Given the description of an element on the screen output the (x, y) to click on. 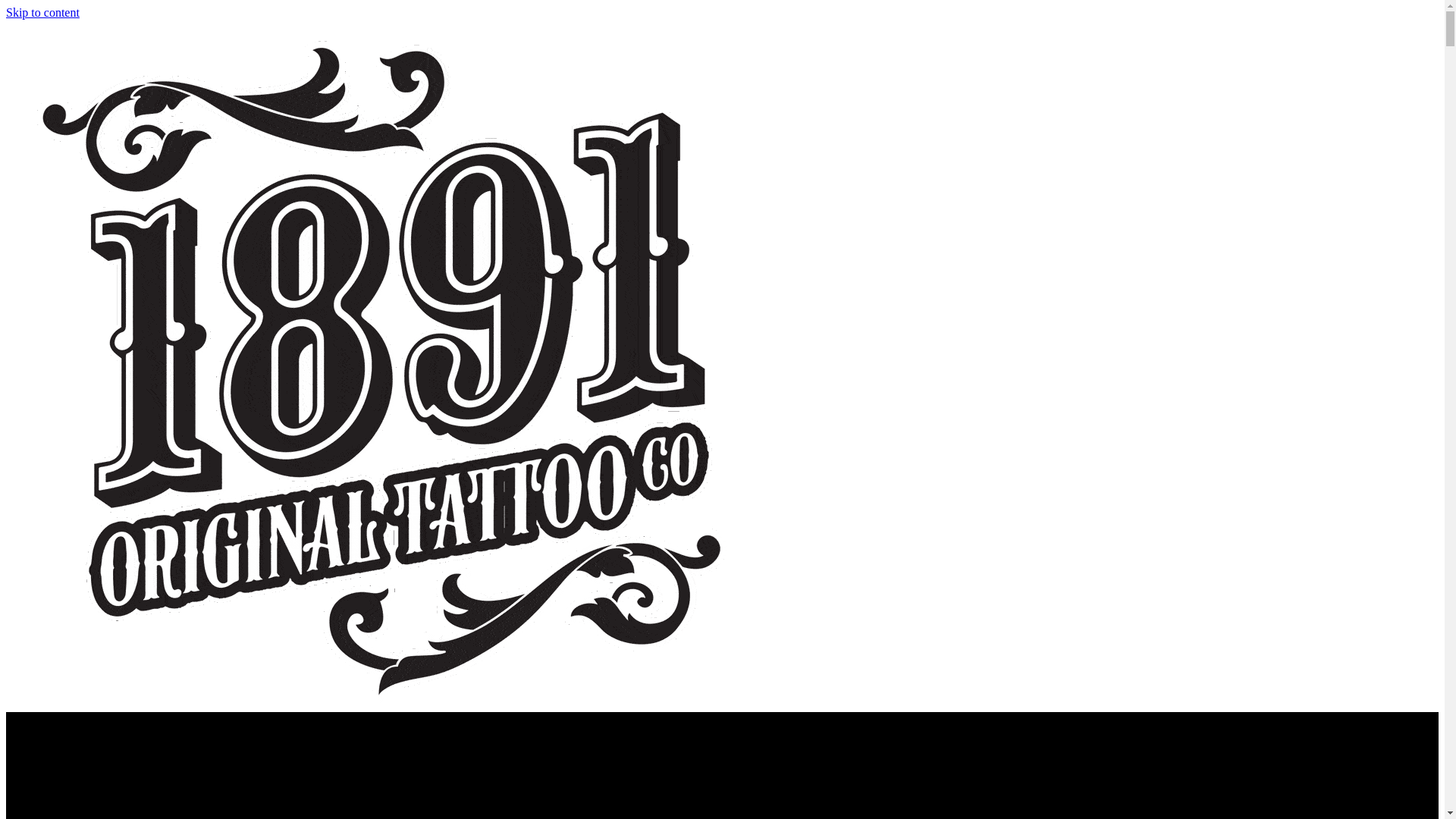
Skip to content Element type: text (42, 12)
